Given the description of an element on the screen output the (x, y) to click on. 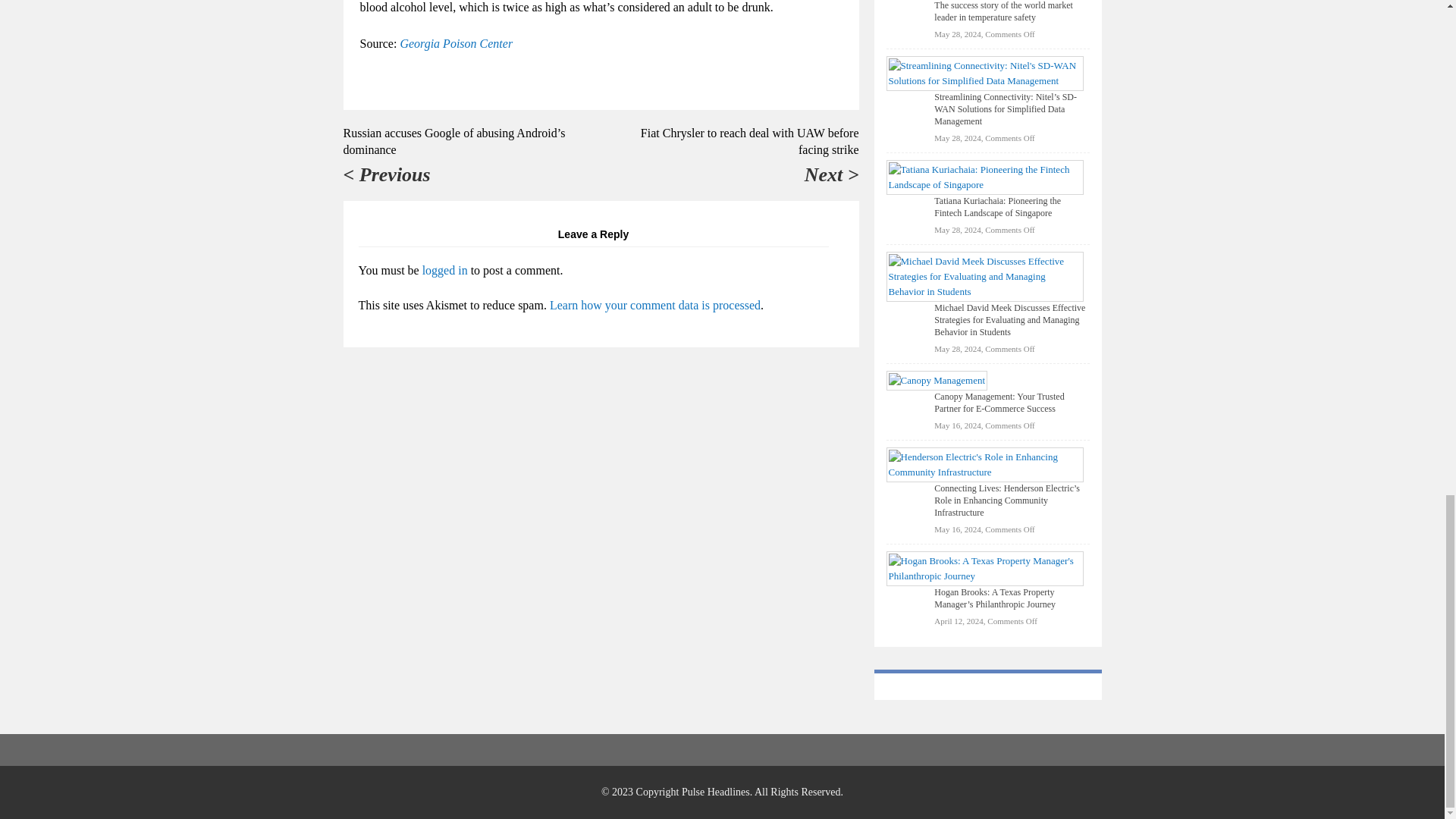
logged in (444, 269)
Georgia Poison Center (455, 42)
Learn how your comment data is processed (655, 305)
Fiat Chrysler to reach deal with UAW before facing strike (749, 141)
